Given the description of an element on the screen output the (x, y) to click on. 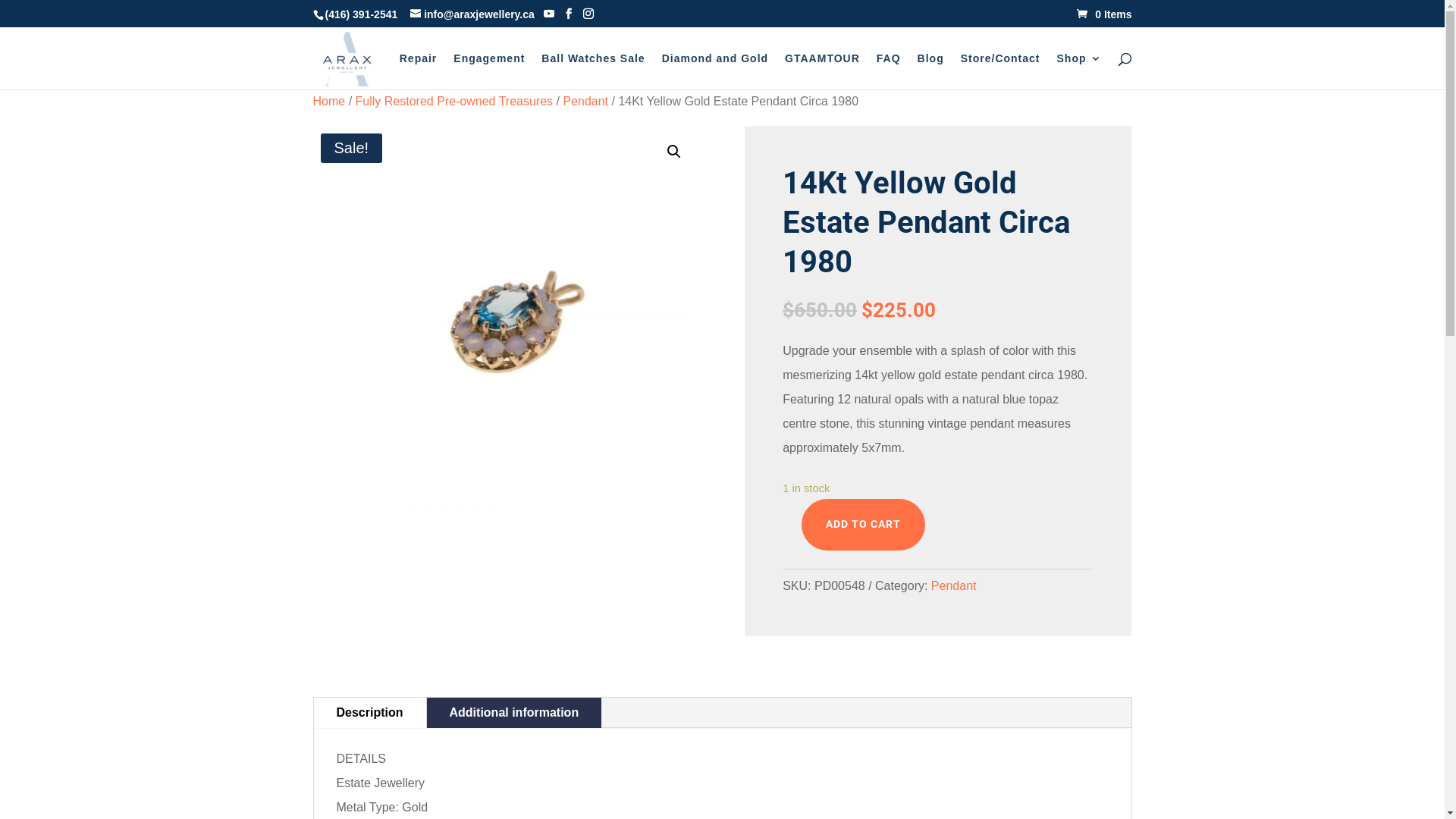
Pendant 01 Element type: hover (505, 318)
0 Items Element type: text (1103, 13)
ADD TO CART Element type: text (863, 524)
Engagement Element type: text (488, 71)
Additional information Element type: text (514, 712)
Store/Contact Element type: text (1000, 71)
Home Element type: text (328, 100)
(416) 391-2541 Element type: text (360, 13)
Repair Element type: text (418, 71)
Blog Element type: text (930, 71)
Pendant Element type: text (585, 100)
Ball Watches Sale Element type: text (592, 71)
Description Element type: text (369, 712)
Fully Restored Pre-owned Treasures Element type: text (454, 100)
Diamond and Gold Element type: text (715, 71)
info@araxjewellery.ca Element type: text (472, 13)
Pendant Element type: text (953, 585)
Shop Element type: text (1079, 71)
FAQ Element type: text (888, 71)
GTAAMTOUR Element type: text (821, 71)
